Given the description of an element on the screen output the (x, y) to click on. 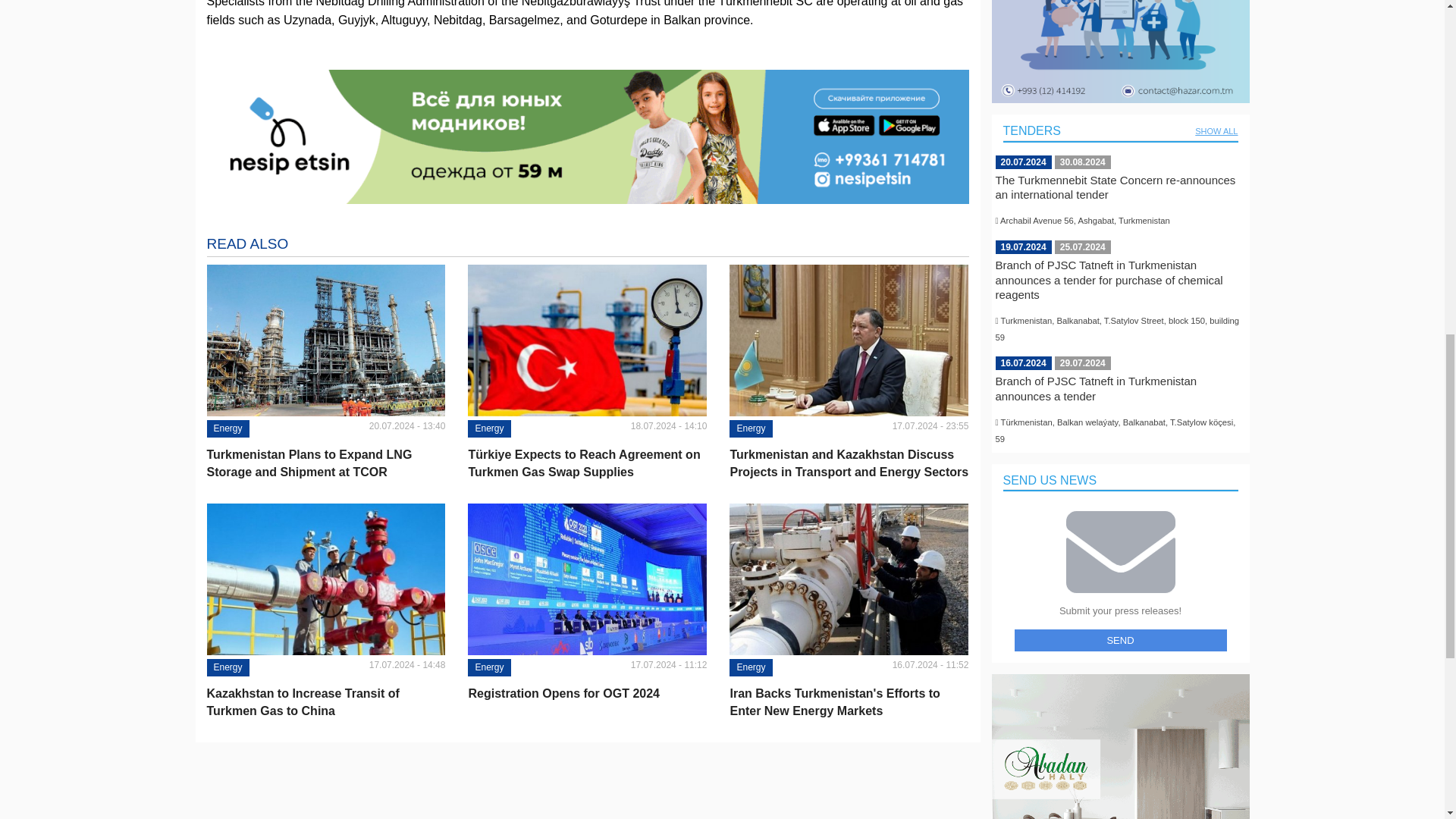
Kazakhstan to Increase Transit of Turkmen Gas to China (325, 701)
Registration Opens for OGT 2024 (586, 692)
